Given the description of an element on the screen output the (x, y) to click on. 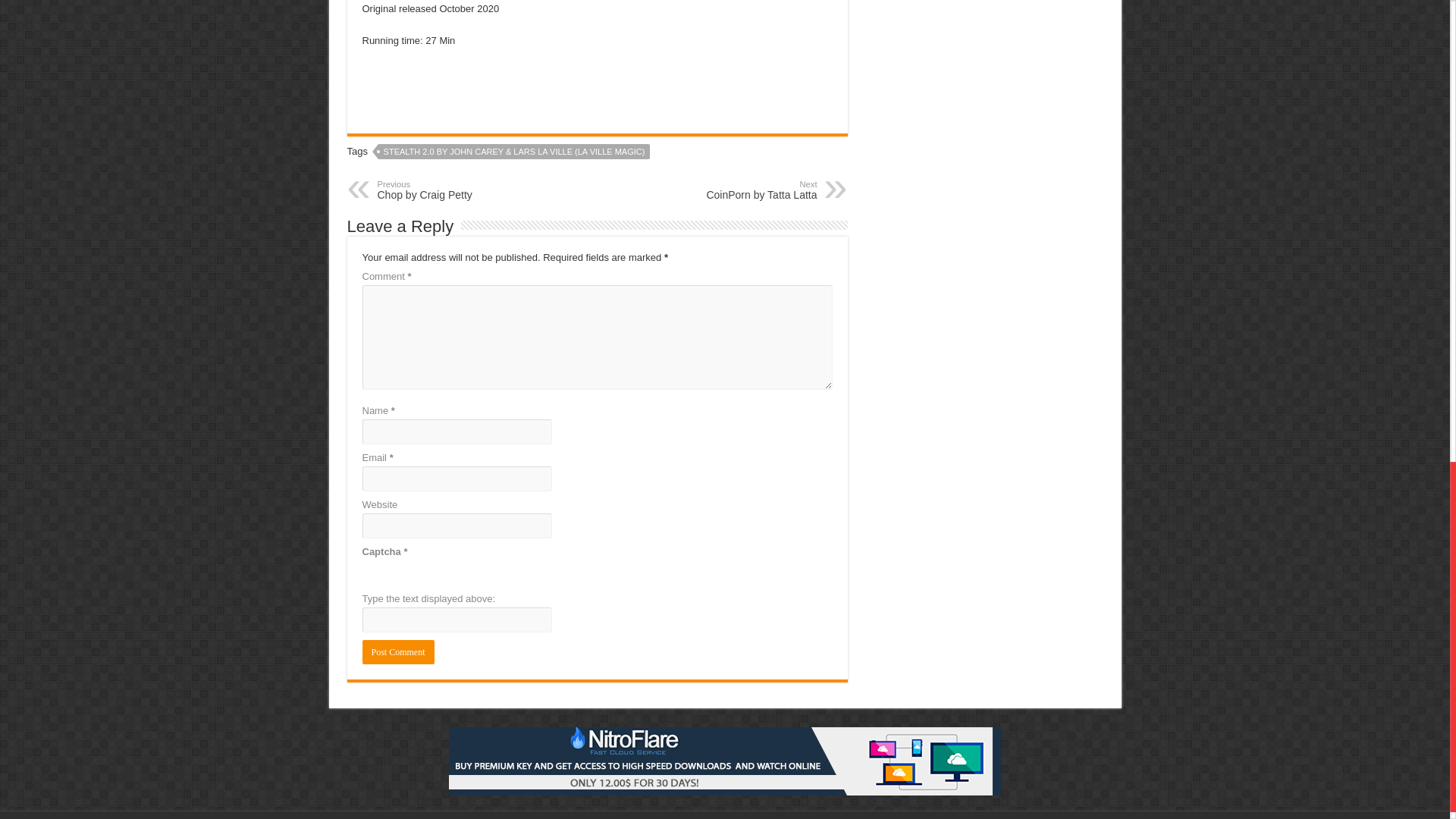
Post Comment (454, 189)
Post Comment (397, 651)
